Given the description of an element on the screen output the (x, y) to click on. 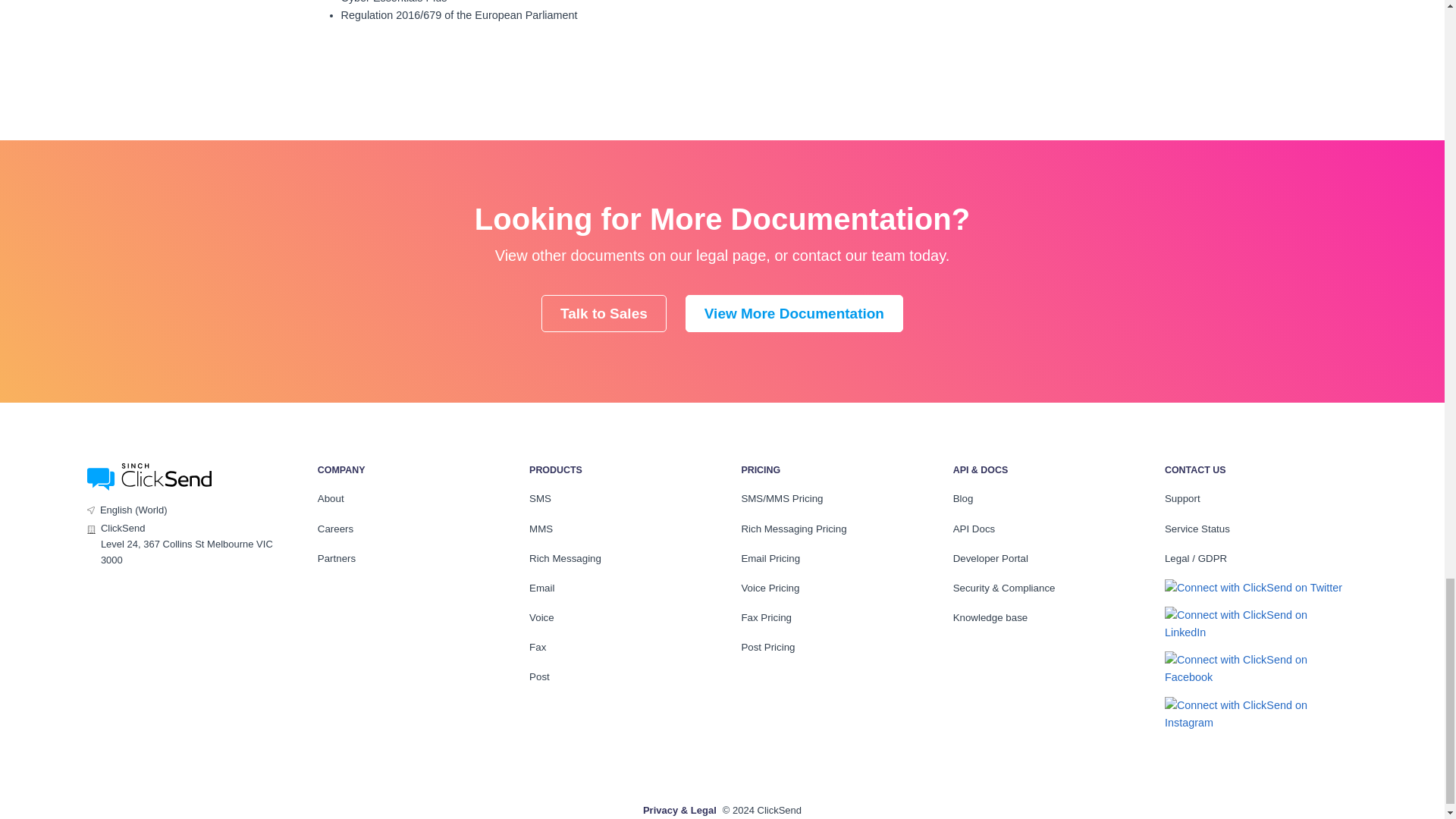
Connect with ClickSend on LinkedIn (1254, 623)
Connect with ClickSend on Twitter (1253, 588)
Connect with ClickSend on Facebook (1254, 668)
Connect with ClickSend on Instagram (1254, 714)
